Given the description of an element on the screen output the (x, y) to click on. 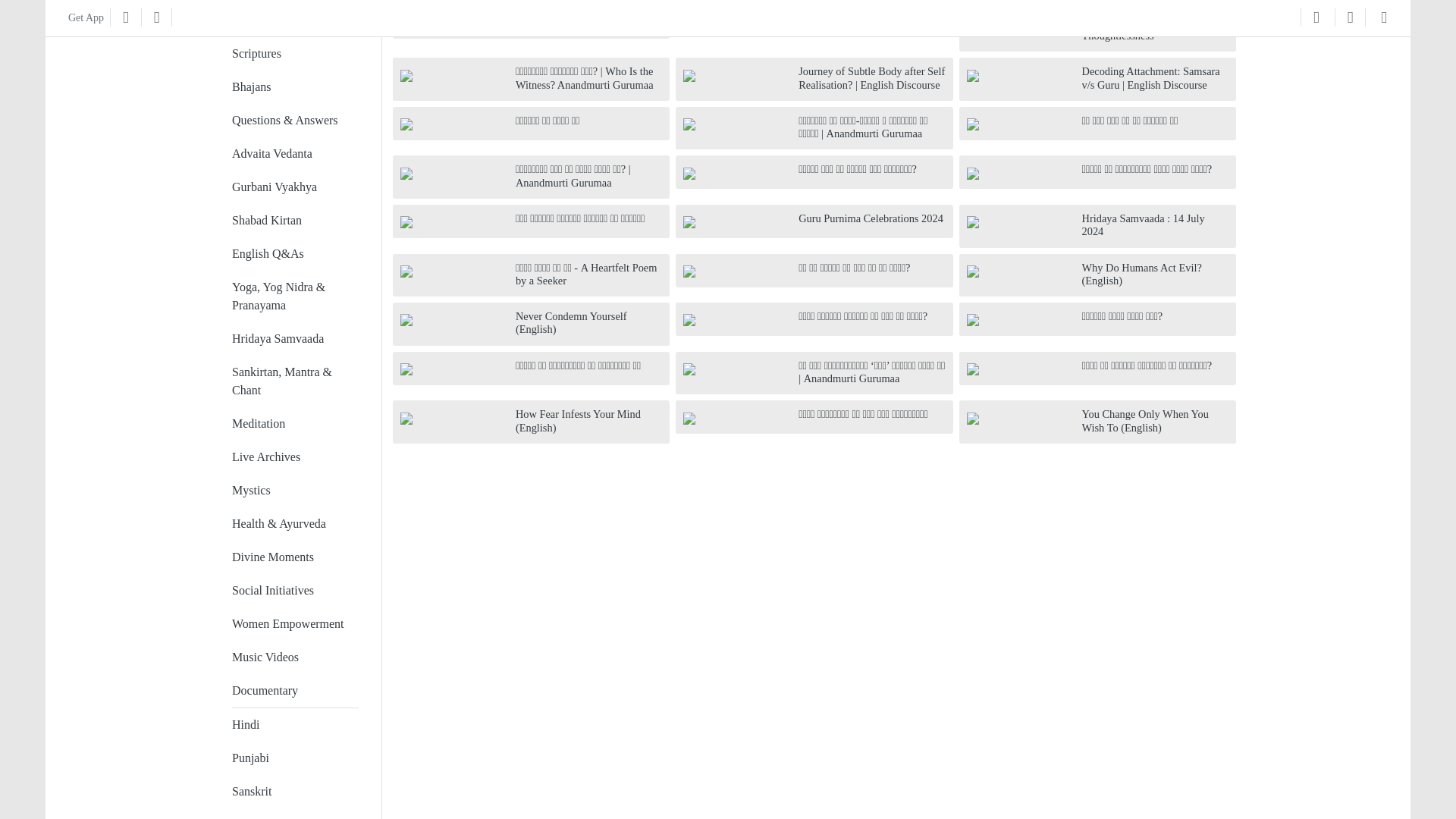
99 videos (294, 423)
51 videos (294, 490)
134 videos (294, 220)
107 videos (294, 296)
Advaita Vedanta (272, 153)
47 videos (294, 523)
533 videos (294, 53)
103 videos (294, 381)
English Discourses (277, 19)
802 videos (294, 20)
13 videos (294, 623)
Scriptures (256, 52)
Bhajans (250, 86)
125 videos (294, 254)
456 videos (294, 87)
